Given the description of an element on the screen output the (x, y) to click on. 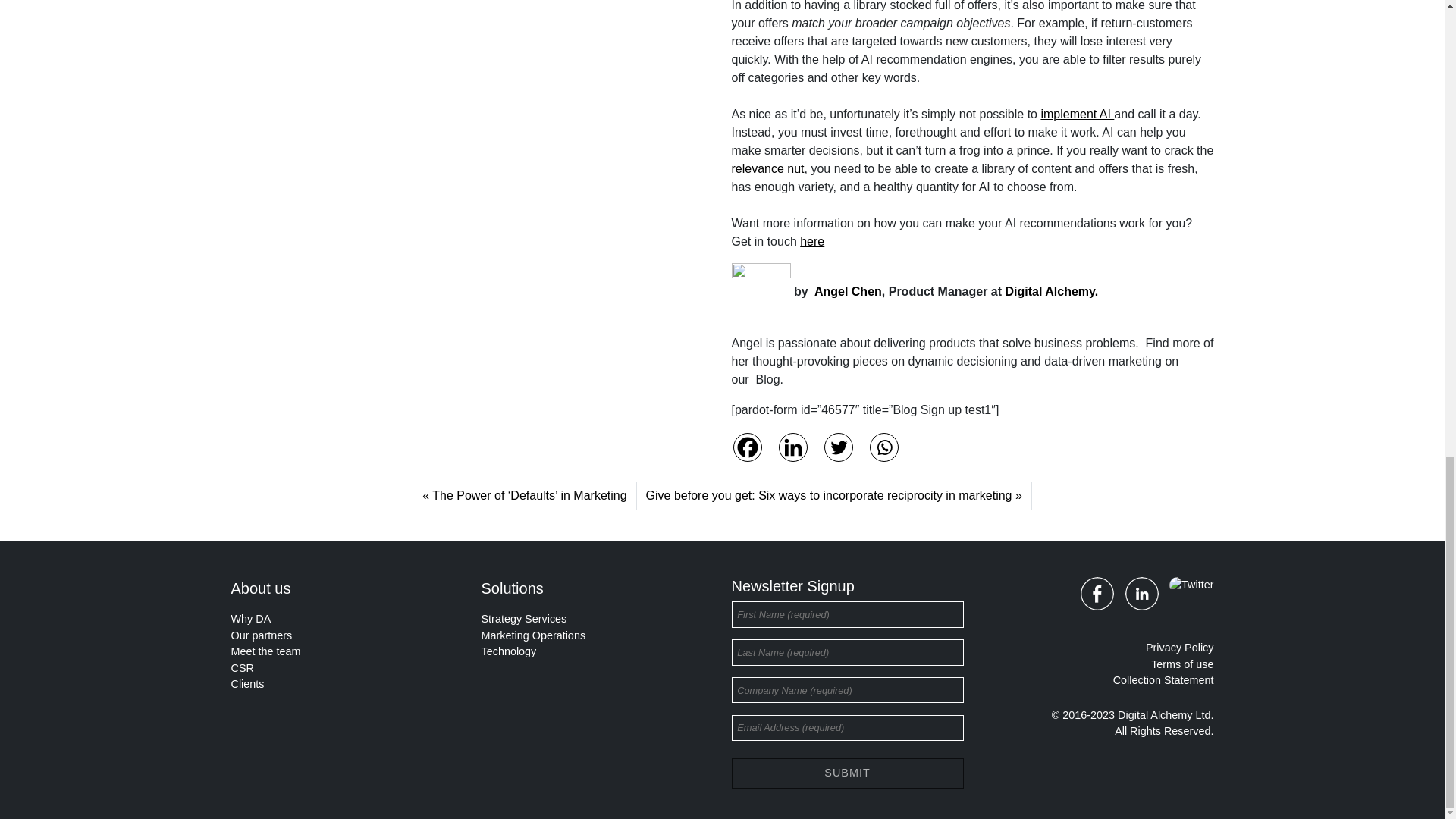
Digital Alchemy. (1052, 291)
Angel Chen (847, 291)
Facebook (746, 447)
here (811, 241)
Twitter (837, 447)
Whatsapp (883, 447)
relevance nut (766, 168)
Linkedin (791, 447)
implement AI (1077, 113)
